Given the description of an element on the screen output the (x, y) to click on. 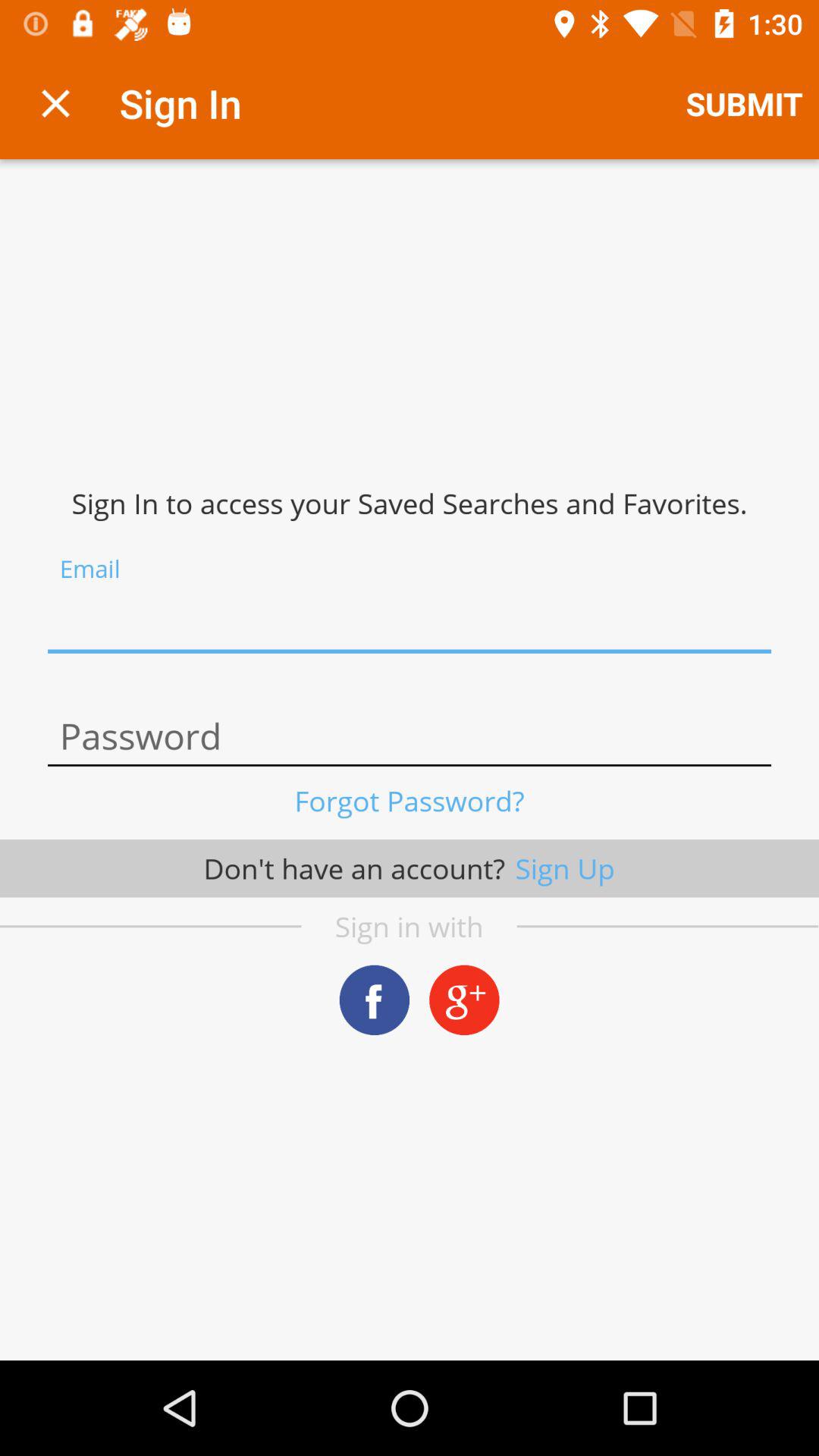
facebook (374, 1000)
